Given the description of an element on the screen output the (x, y) to click on. 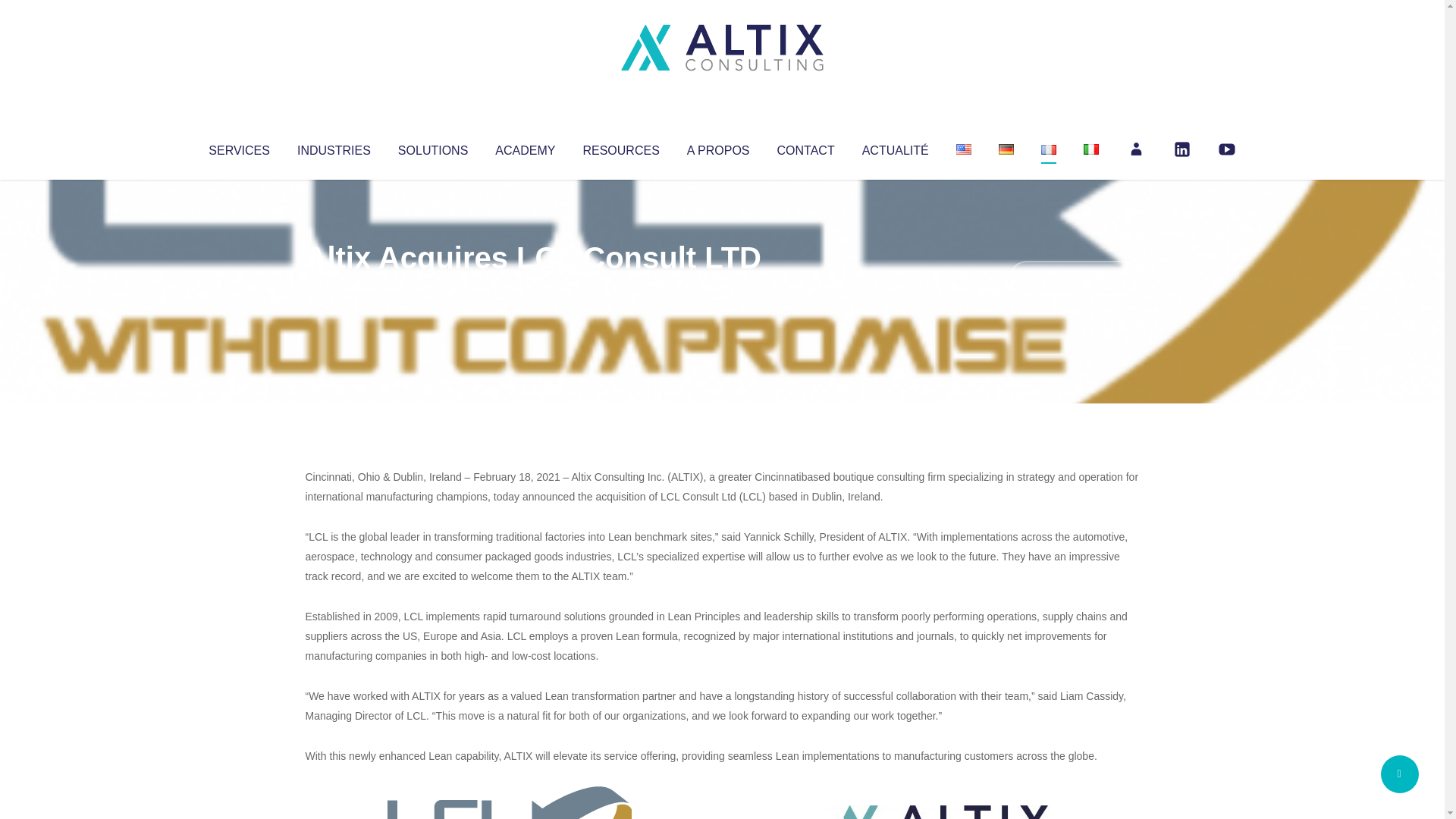
SOLUTIONS (432, 146)
INDUSTRIES (334, 146)
No Comments (1073, 278)
Altix (333, 287)
ACADEMY (524, 146)
Uncategorized (530, 287)
SERVICES (238, 146)
A PROPOS (718, 146)
Articles par Altix (333, 287)
RESOURCES (620, 146)
